Given the description of an element on the screen output the (x, y) to click on. 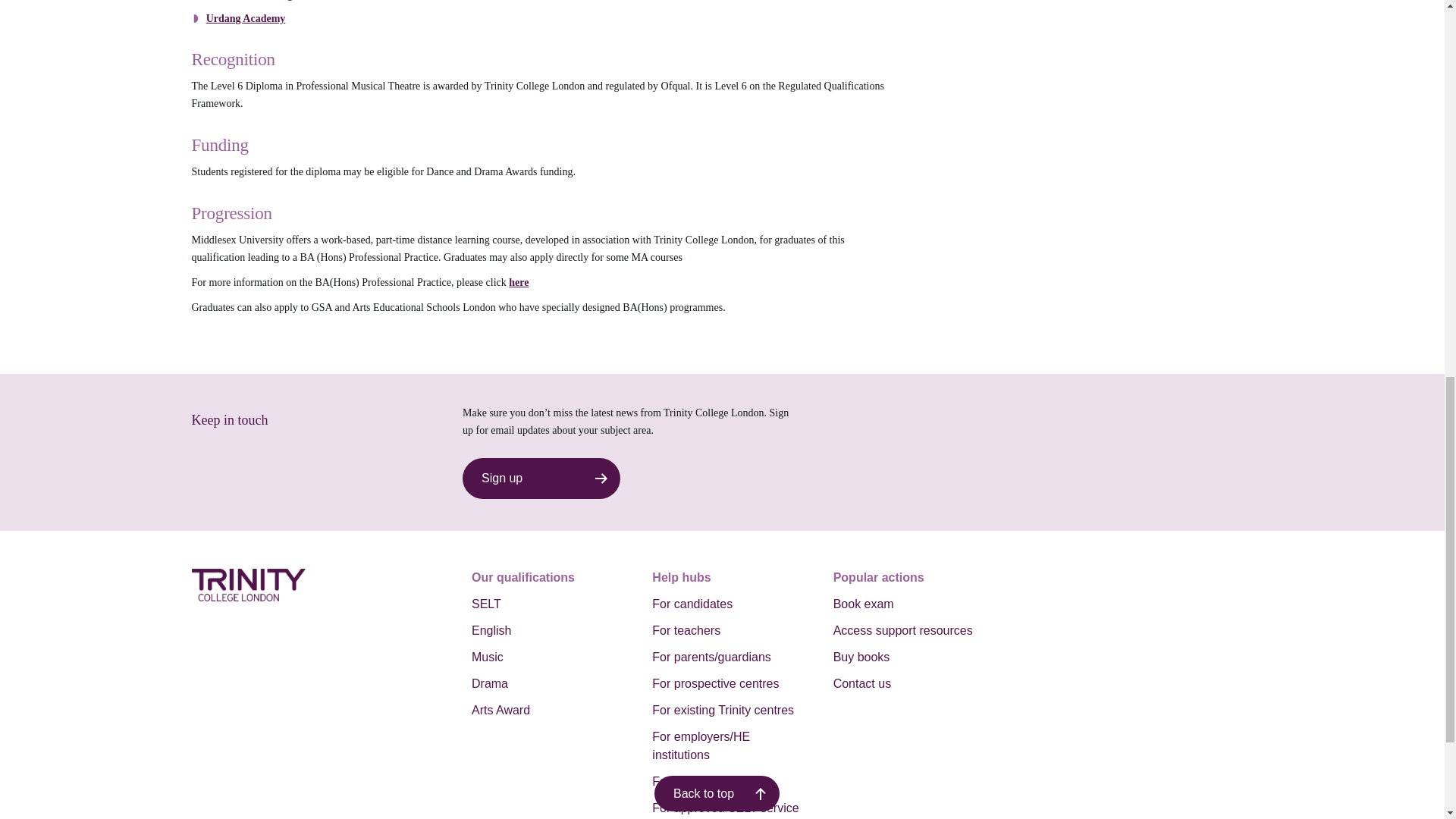
Link will open in new window (245, 18)
Back to top (715, 55)
